Given the description of an element on the screen output the (x, y) to click on. 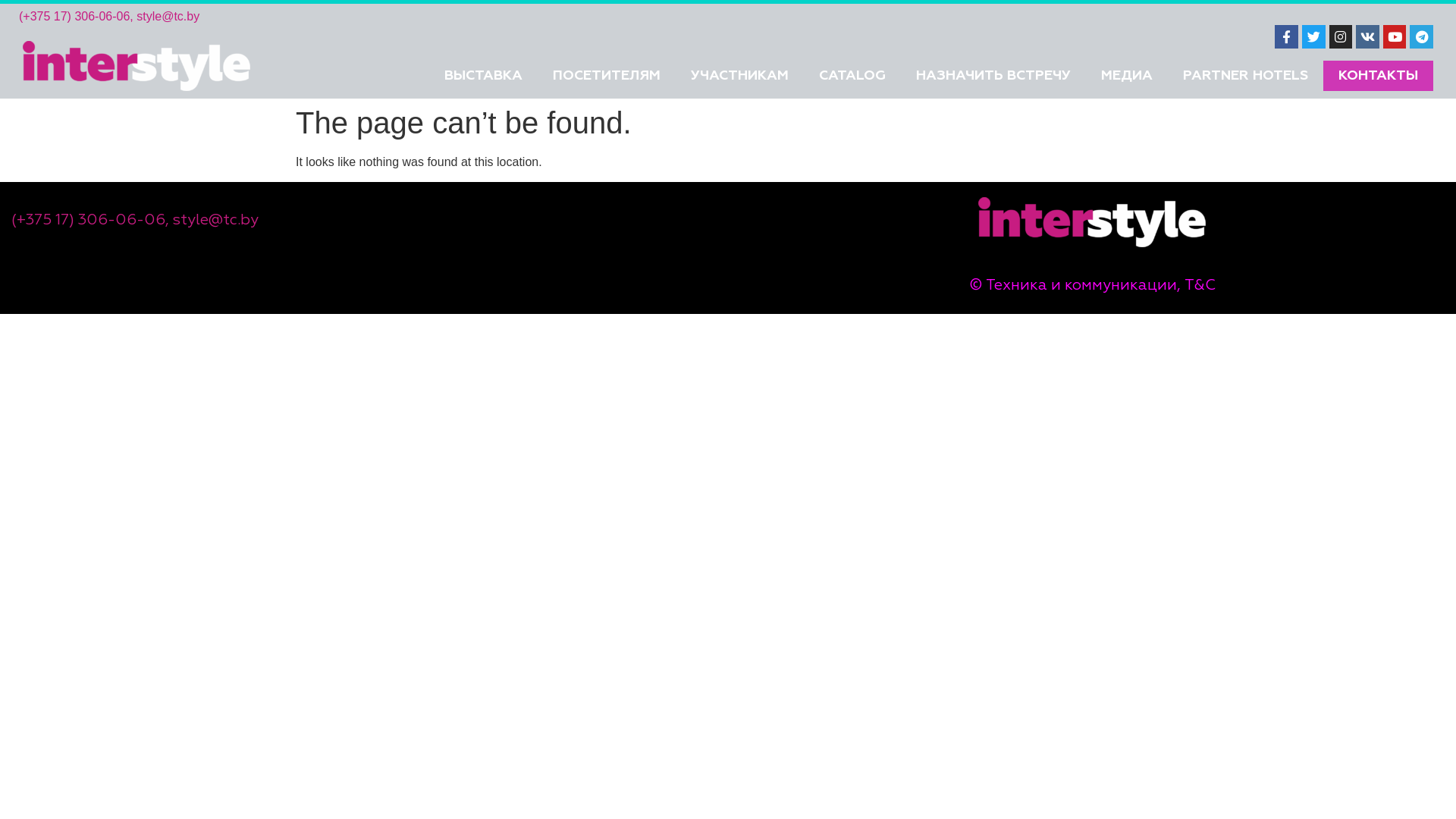
CATALOG Element type: text (851, 75)
style@tc.by Element type: text (167, 15)
style@tc.by Element type: text (215, 219)
(+375 17) 306-06-06, Element type: text (75, 15)
PARTNER HOTELS Element type: text (1245, 75)
(+375 17) 306-06-06, Element type: text (90, 219)
